Given the description of an element on the screen output the (x, y) to click on. 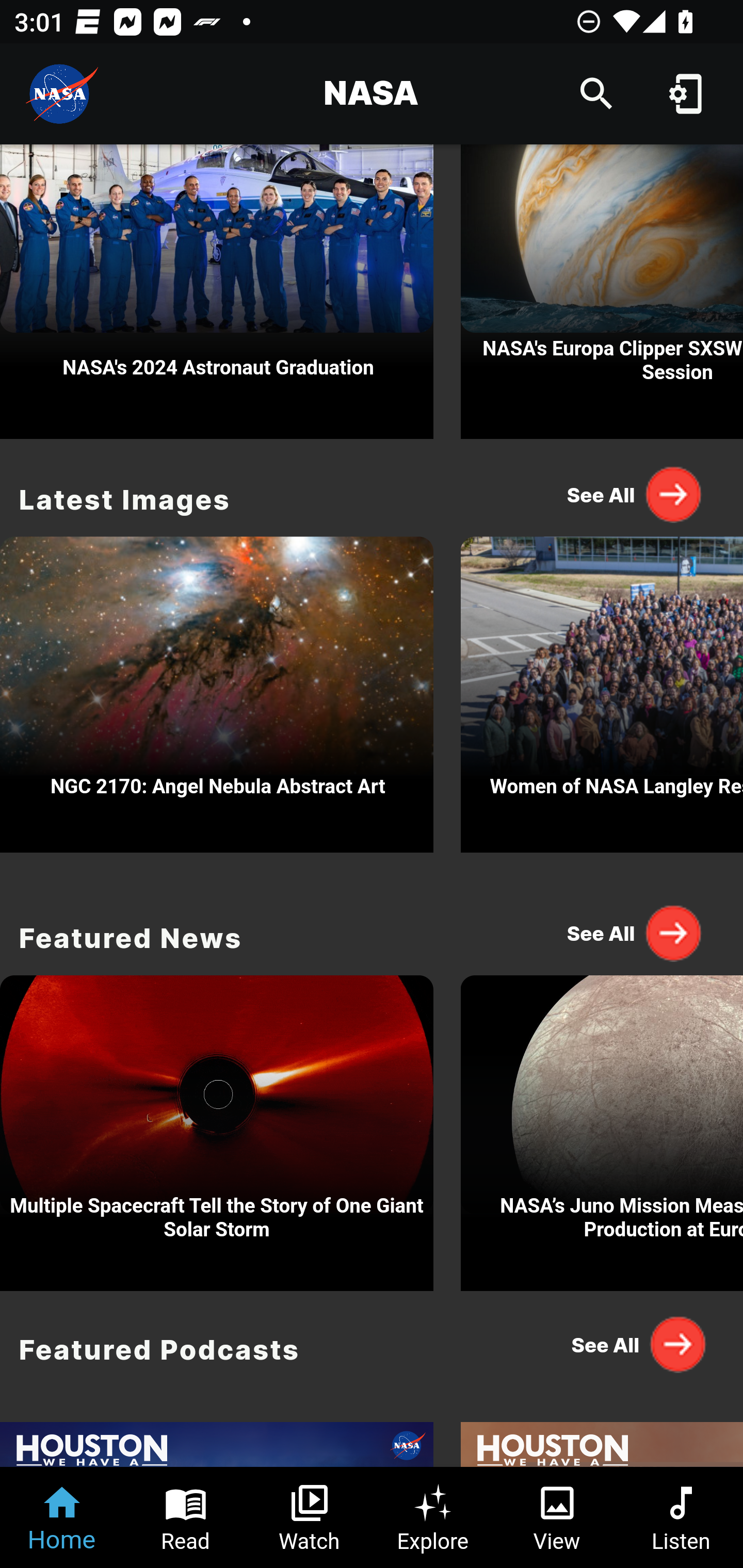
NASA's 2024 Astronaut Graduation (216, 291)
NASA's Europa Clipper SXSW 2024 Opening Session (601, 291)
See All (634, 494)
NGC 2170: Angel Nebula Abstract Art (216, 690)
Women of NASA Langley Research Center (601, 690)
See All (634, 932)
See All (634, 1343)
Home
Tab 1 of 6 (62, 1517)
Read
Tab 2 of 6 (185, 1517)
Watch
Tab 3 of 6 (309, 1517)
Explore
Tab 4 of 6 (433, 1517)
View
Tab 5 of 6 (556, 1517)
Listen
Tab 6 of 6 (680, 1517)
